Given the description of an element on the screen output the (x, y) to click on. 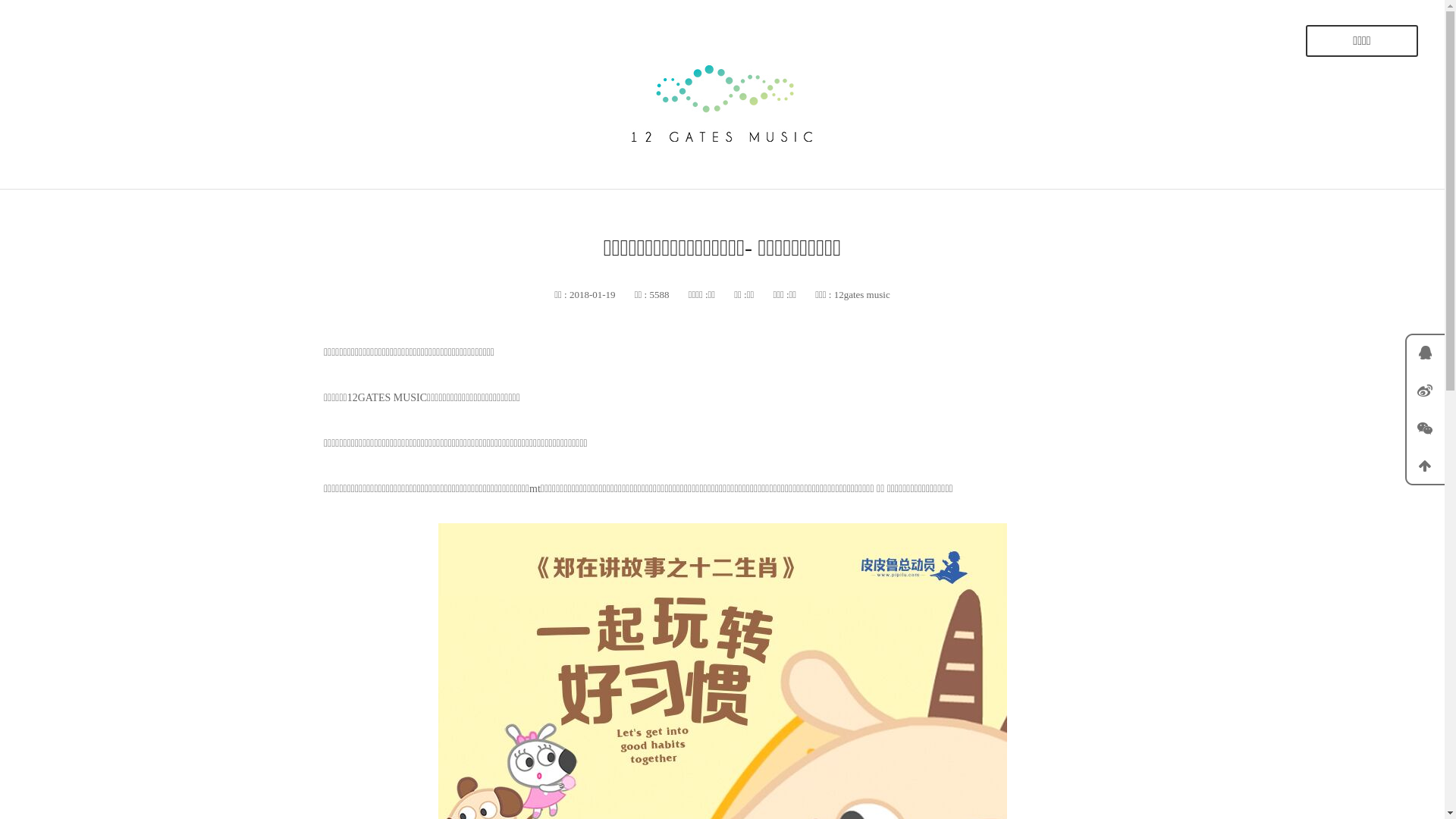
5588 Element type: text (657, 294)
12gates music Element type: text (862, 294)
2018-01-19 Element type: text (591, 294)
